Given the description of an element on the screen output the (x, y) to click on. 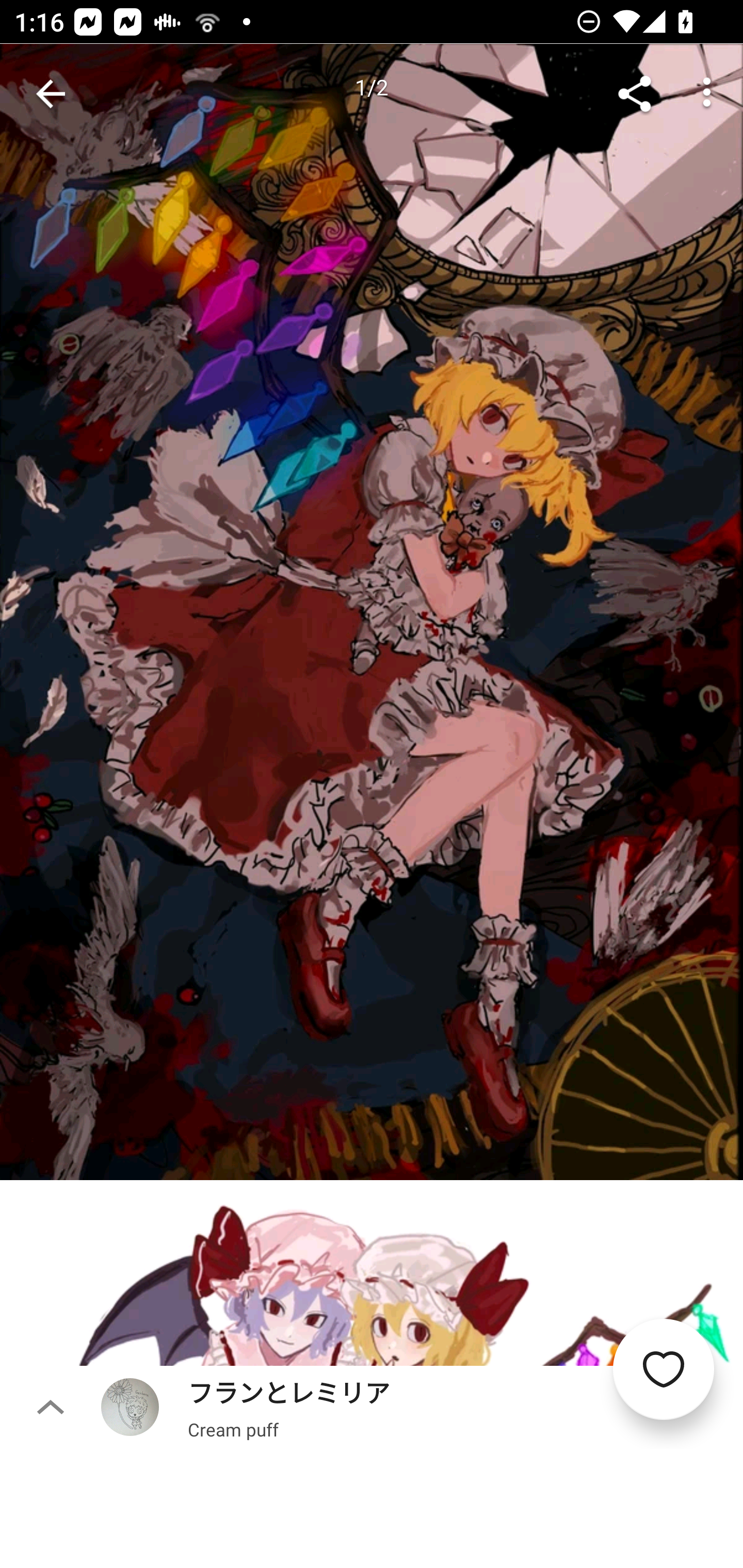
Share (634, 93)
More options (706, 93)
フランとレミリア Cream puff (422, 1406)
Cream puff (232, 1428)
